Given the description of an element on the screen output the (x, y) to click on. 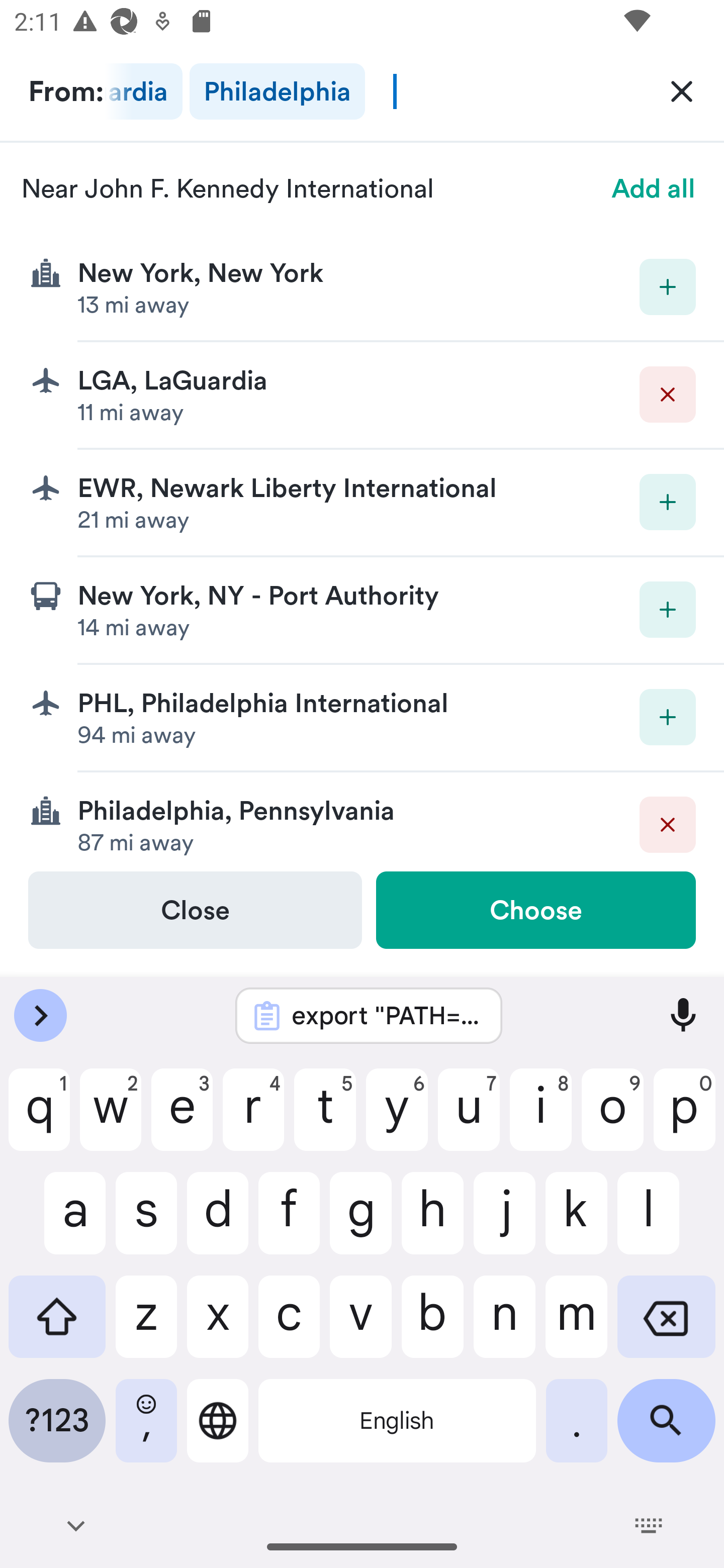
Clear All (681, 90)
LaGuardia (143, 91)
Philadelphia (276, 91)
Add all (653, 187)
Add destination New York, New York 13 mi away (362, 287)
Add destination (667, 286)
Delete LGA, LaGuardia 11 mi away (362, 395)
Delete (667, 394)
Add destination (667, 501)
Add destination (667, 609)
Add destination (667, 716)
Delete Philadelphia, Pennsylvania 87 mi away (362, 821)
Delete (667, 824)
Close (195, 909)
Choose (535, 909)
